Given the description of an element on the screen output the (x, y) to click on. 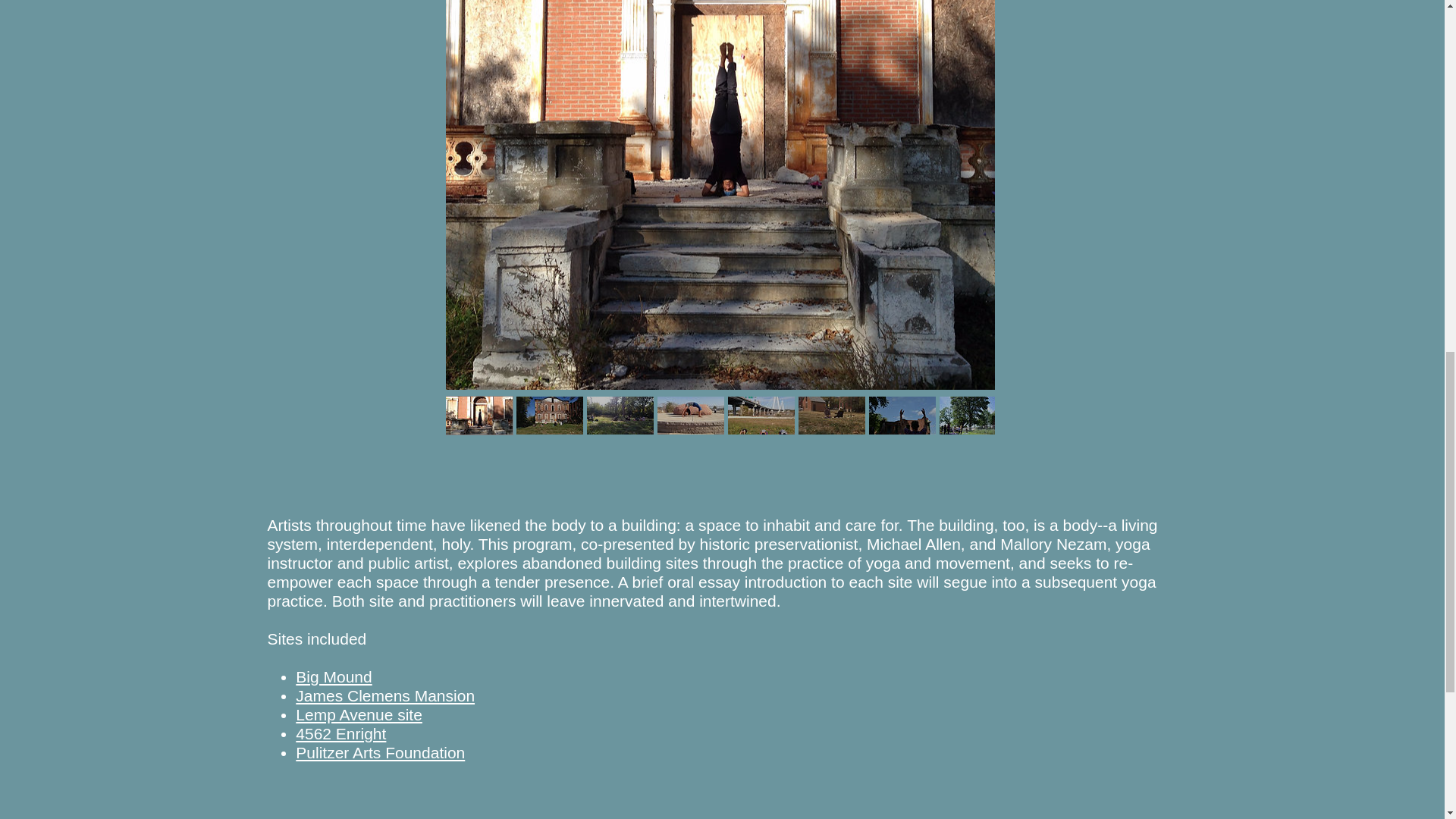
Pulitzer Arts Foundation (379, 752)
4562 Enright (340, 733)
Lemp Avenue site (358, 714)
Big Mound (333, 676)
James Clemens Mansion (384, 695)
